Given the description of an element on the screen output the (x, y) to click on. 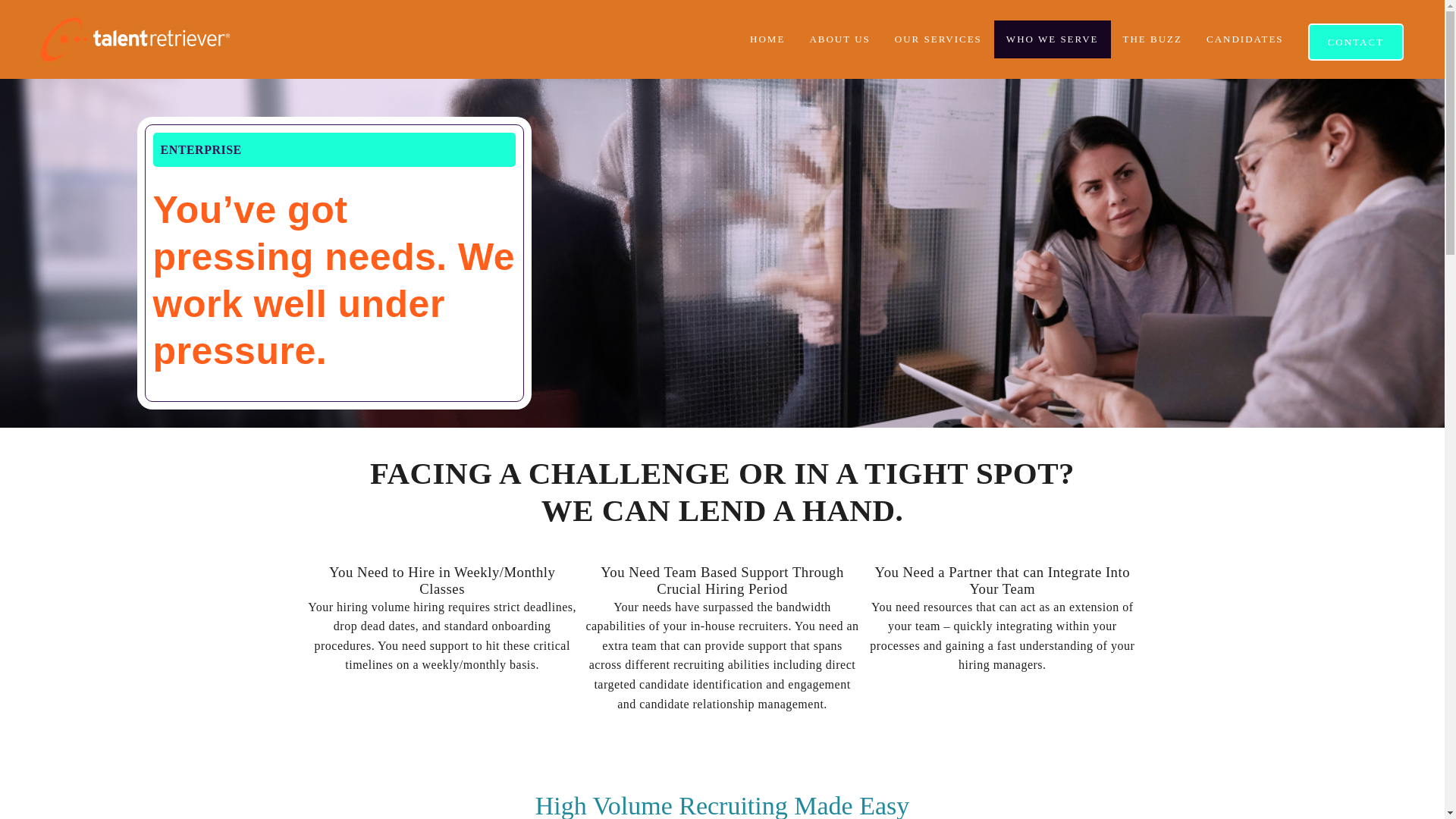
WHO WE SERVE (1052, 39)
CONTACT (1355, 41)
THE BUZZ (1151, 39)
ABOUT US (839, 39)
OUR SERVICES (938, 39)
HOME (767, 39)
CANDIDATES (1244, 39)
